Given the description of an element on the screen output the (x, y) to click on. 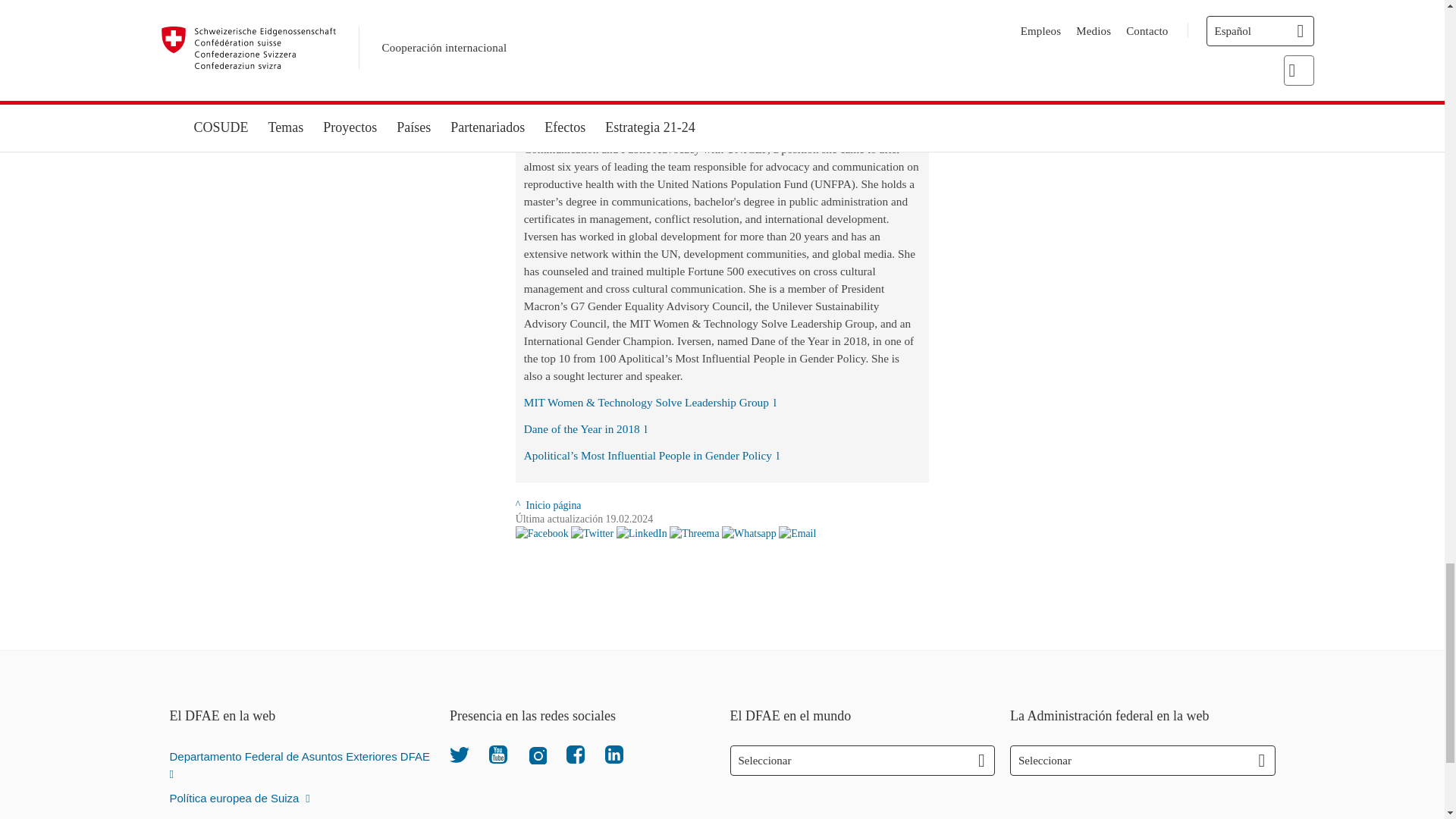
Texto oculto (585, 428)
Twitter (458, 754)
Instagram (537, 754)
Facebook (575, 754)
LinkedIn (614, 754)
Texto oculto (651, 454)
Texto oculto (650, 401)
